Given the description of an element on the screen output the (x, y) to click on. 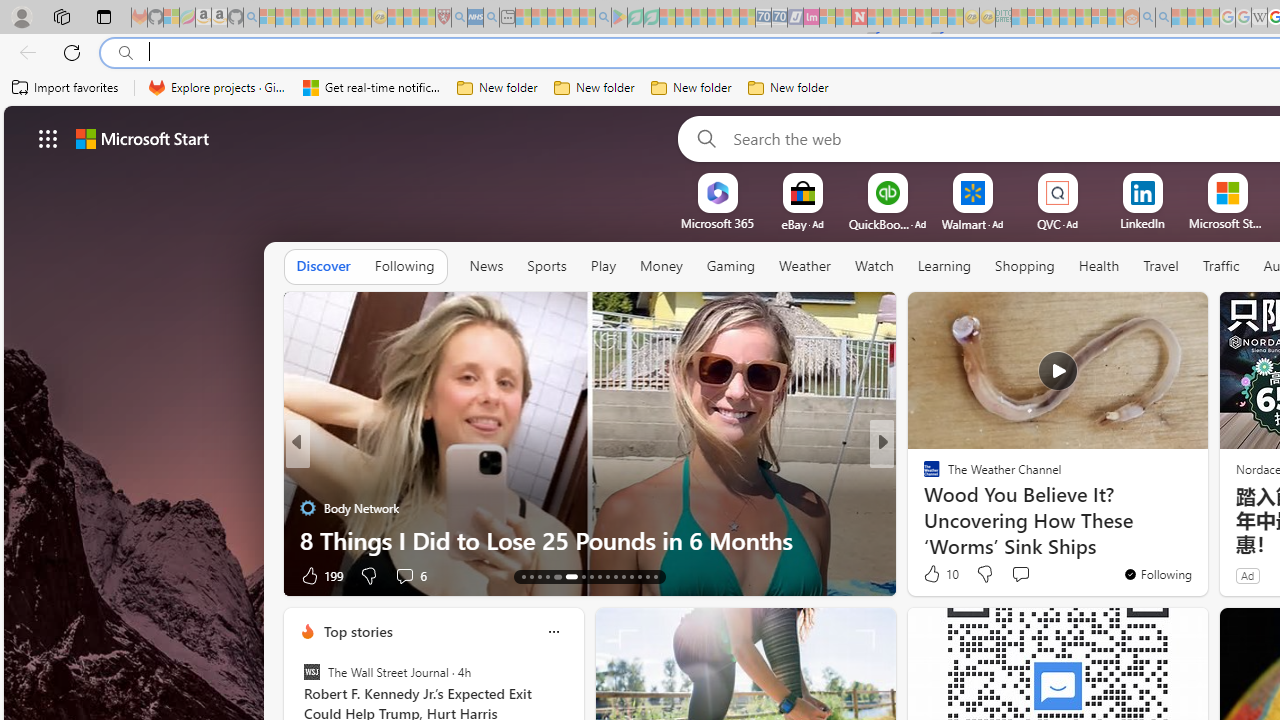
View comments 543 Comment (1013, 575)
AutomationID: tab-18 (569, 576)
Search icon (125, 53)
Body Network (307, 507)
Top stories (357, 631)
Gaming (730, 265)
